Given the description of an element on the screen output the (x, y) to click on. 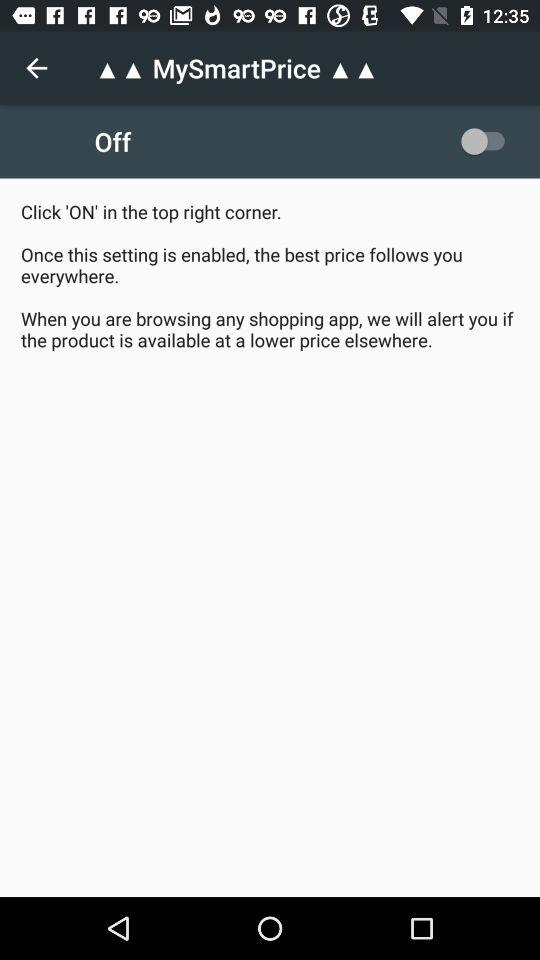
choose the app next to off icon (487, 141)
